Given the description of an element on the screen output the (x, y) to click on. 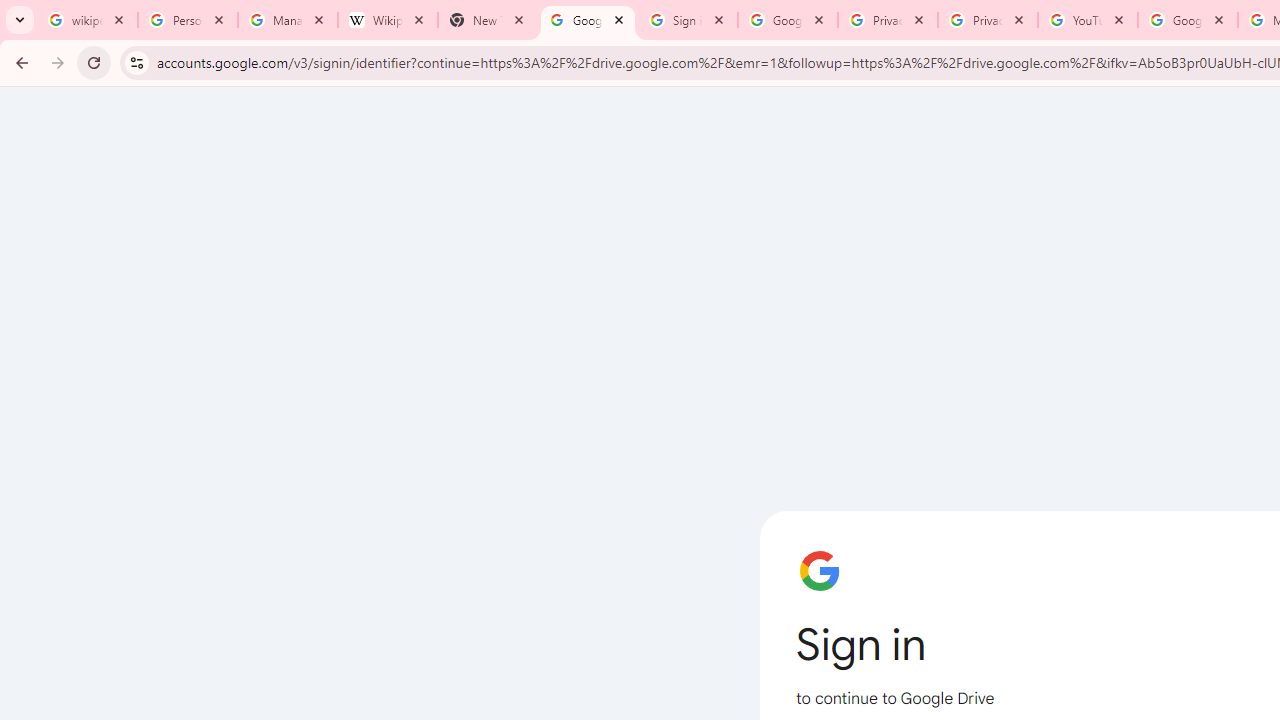
Google Drive: Sign-in (788, 20)
Google Account Help (1187, 20)
Personalization & Google Search results - Google Search Help (188, 20)
Google Drive: Sign-in (587, 20)
